Given the description of an element on the screen output the (x, y) to click on. 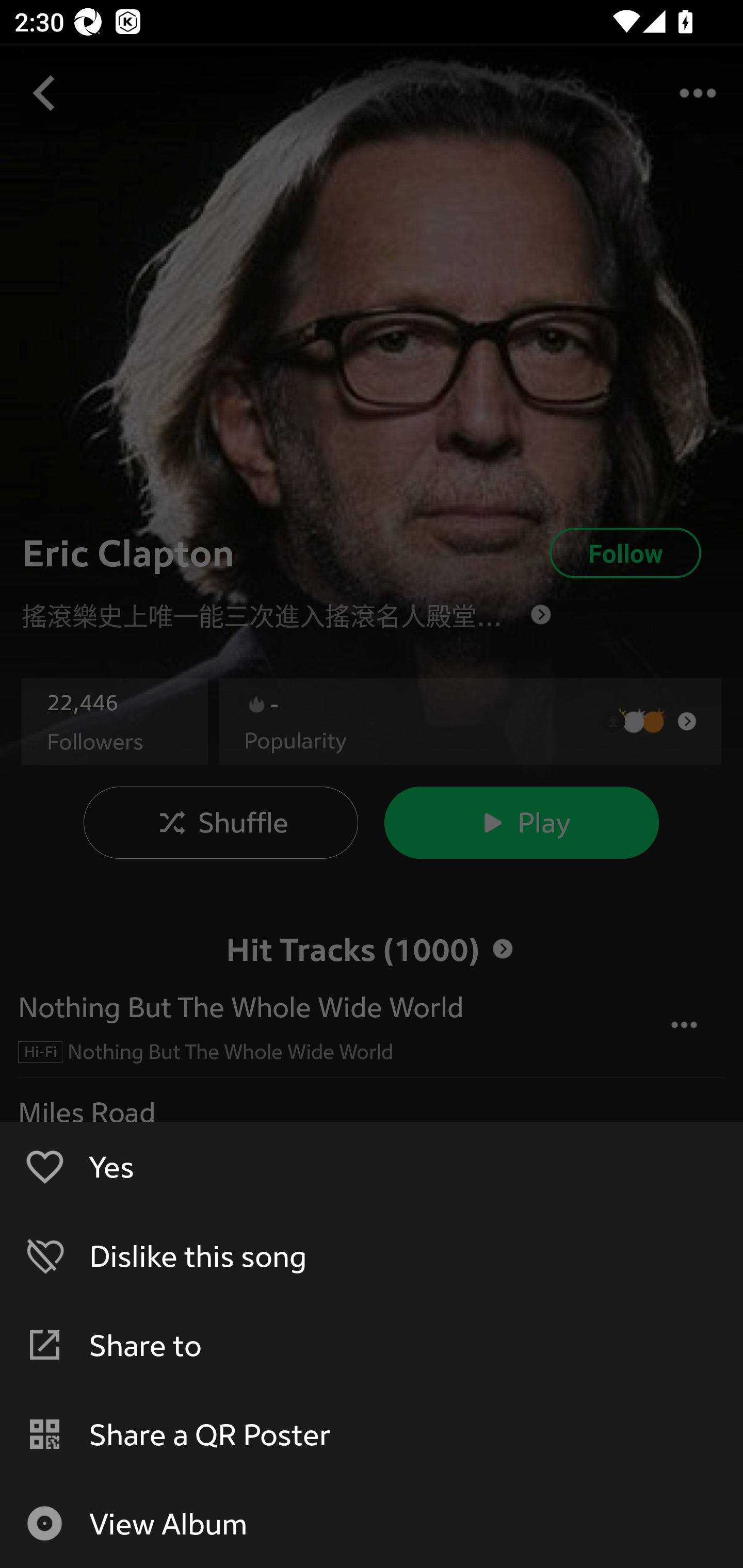
Yes (371, 1165)
Dislike this song (371, 1254)
Share to (371, 1344)
Share a QR Poster (371, 1433)
View Album (371, 1523)
